Given the description of an element on the screen output the (x, y) to click on. 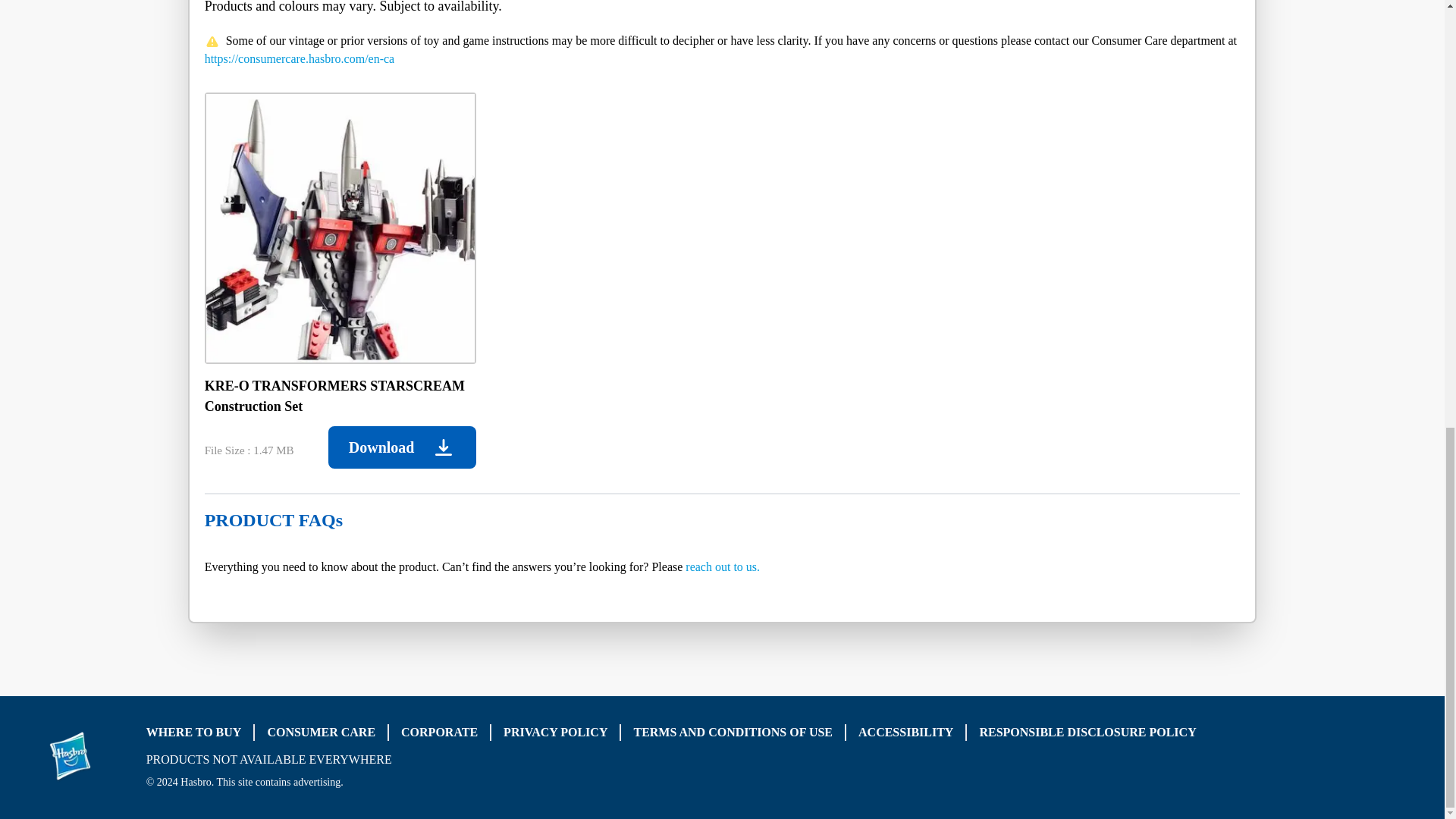
CORPORATE (439, 731)
WHERE TO BUY (194, 731)
PRIVACY POLICY (555, 731)
reach out to us. (722, 566)
TERMS AND CONDITIONS OF USE (732, 731)
RESPONSIBLE DISCLOSURE POLICY (1086, 731)
Download (402, 446)
ACCESSIBILITY (906, 731)
CONSUMER CARE (320, 731)
